Given the description of an element on the screen output the (x, y) to click on. 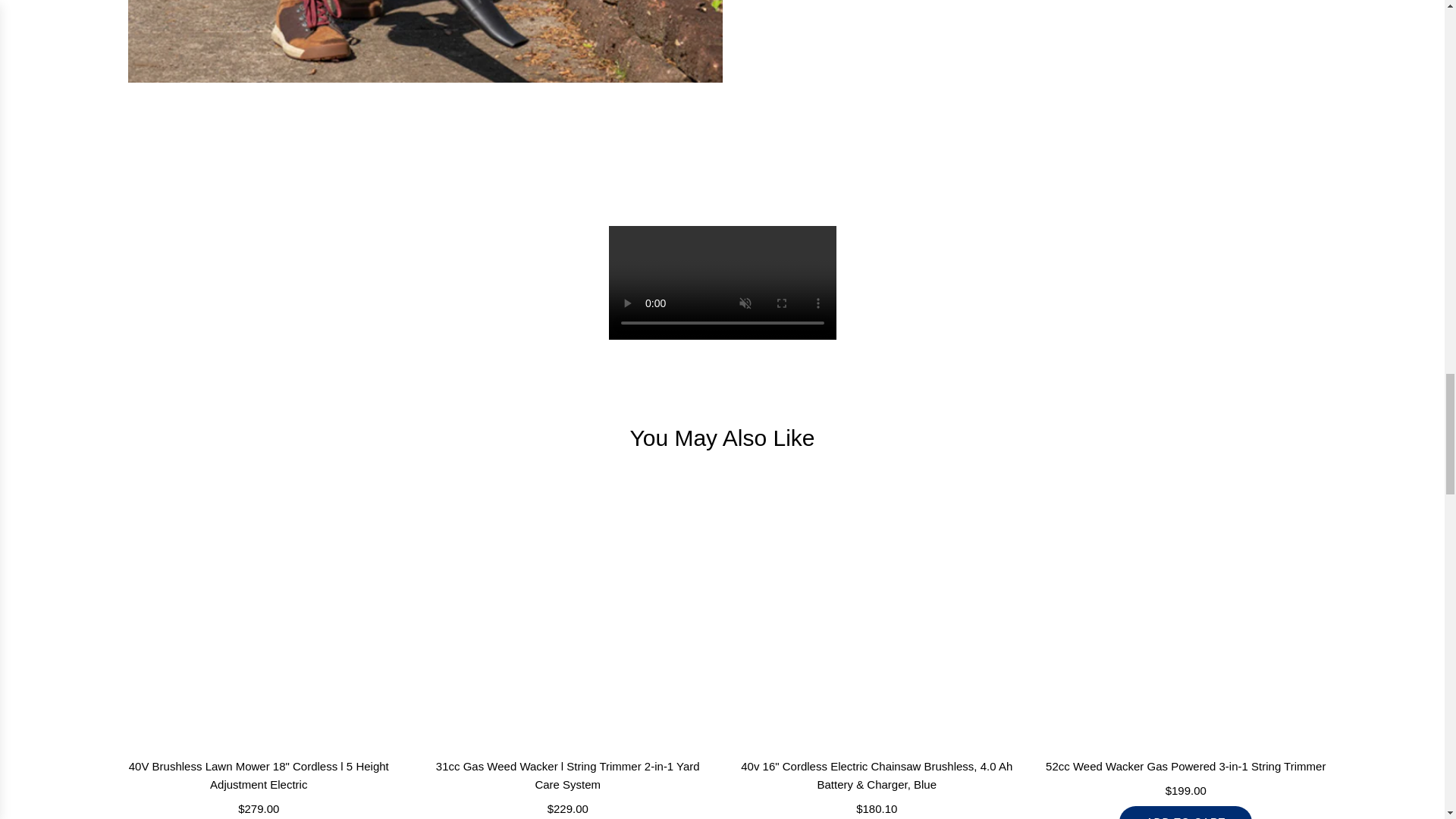
52cc Weed Wacker Gas Powered 3-in-1 String Trimmer (1185, 609)
40V Brushless Lawn Mower 18 (258, 609)
40v 16 (876, 609)
